Given the description of an element on the screen output the (x, y) to click on. 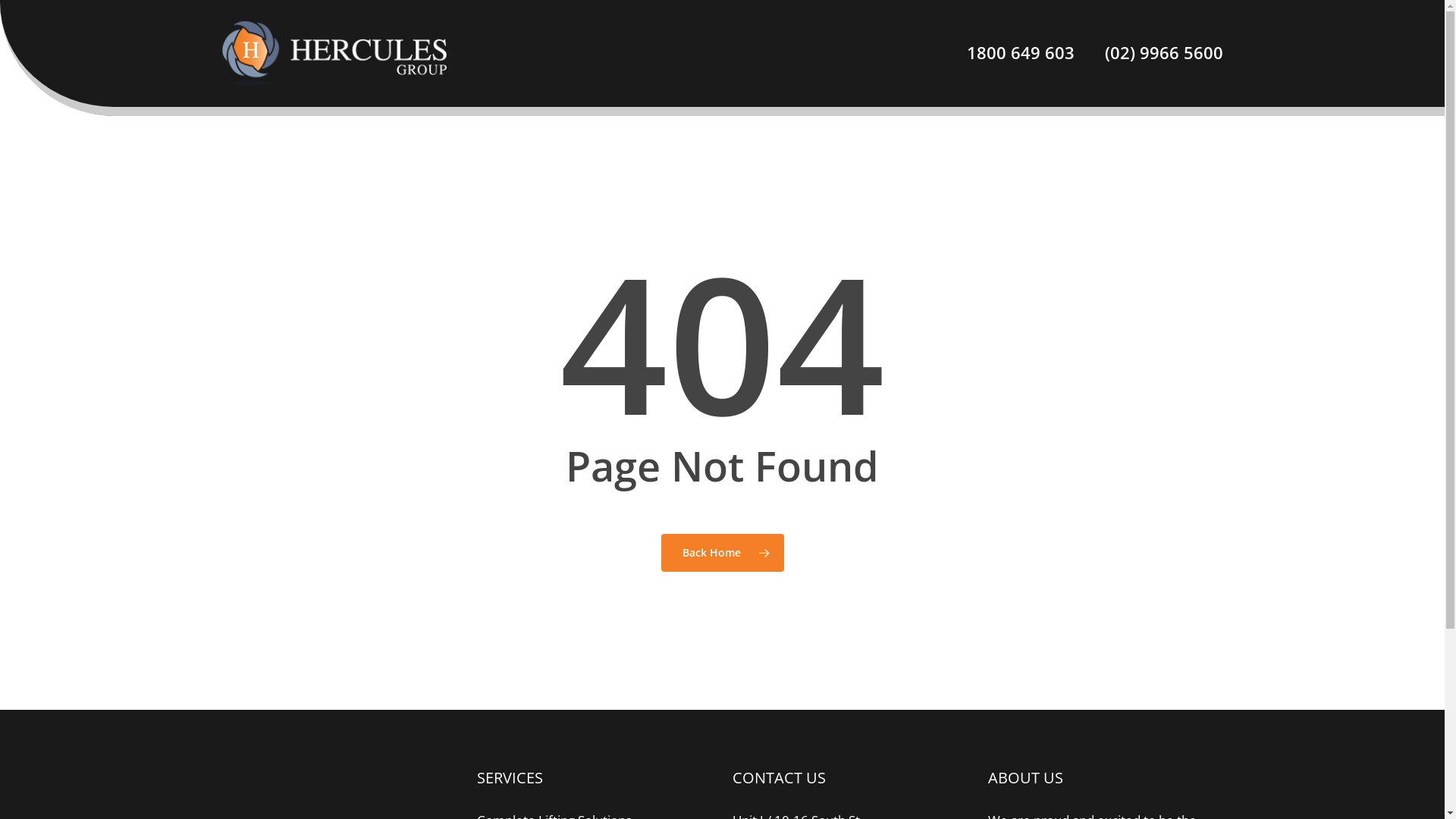
(02) 9966 5600 Element type: text (1155, 53)
Back Home Element type: text (722, 552)
1800 649 603 Element type: text (1019, 53)
